Given the description of an element on the screen output the (x, y) to click on. 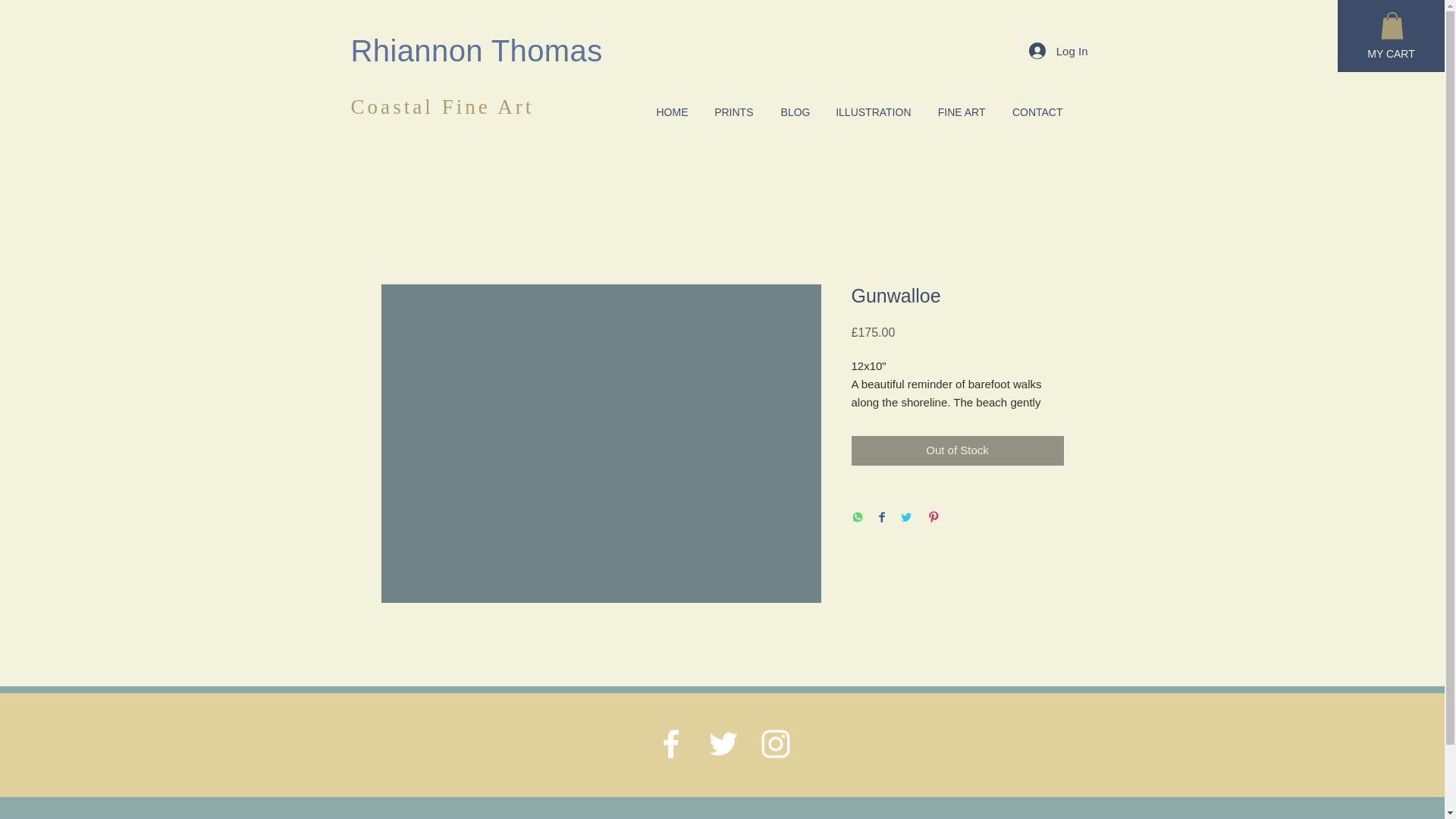
PRINTS (731, 112)
CONTACT (1034, 112)
HOME (669, 112)
as (586, 50)
Rhiannon Thom (459, 50)
FINE ART (958, 112)
ILLUSTRATION (872, 112)
BLOG (792, 112)
Coastal Fine Art (442, 106)
Out of Stock (956, 450)
Log In (1058, 50)
